Given the description of an element on the screen output the (x, y) to click on. 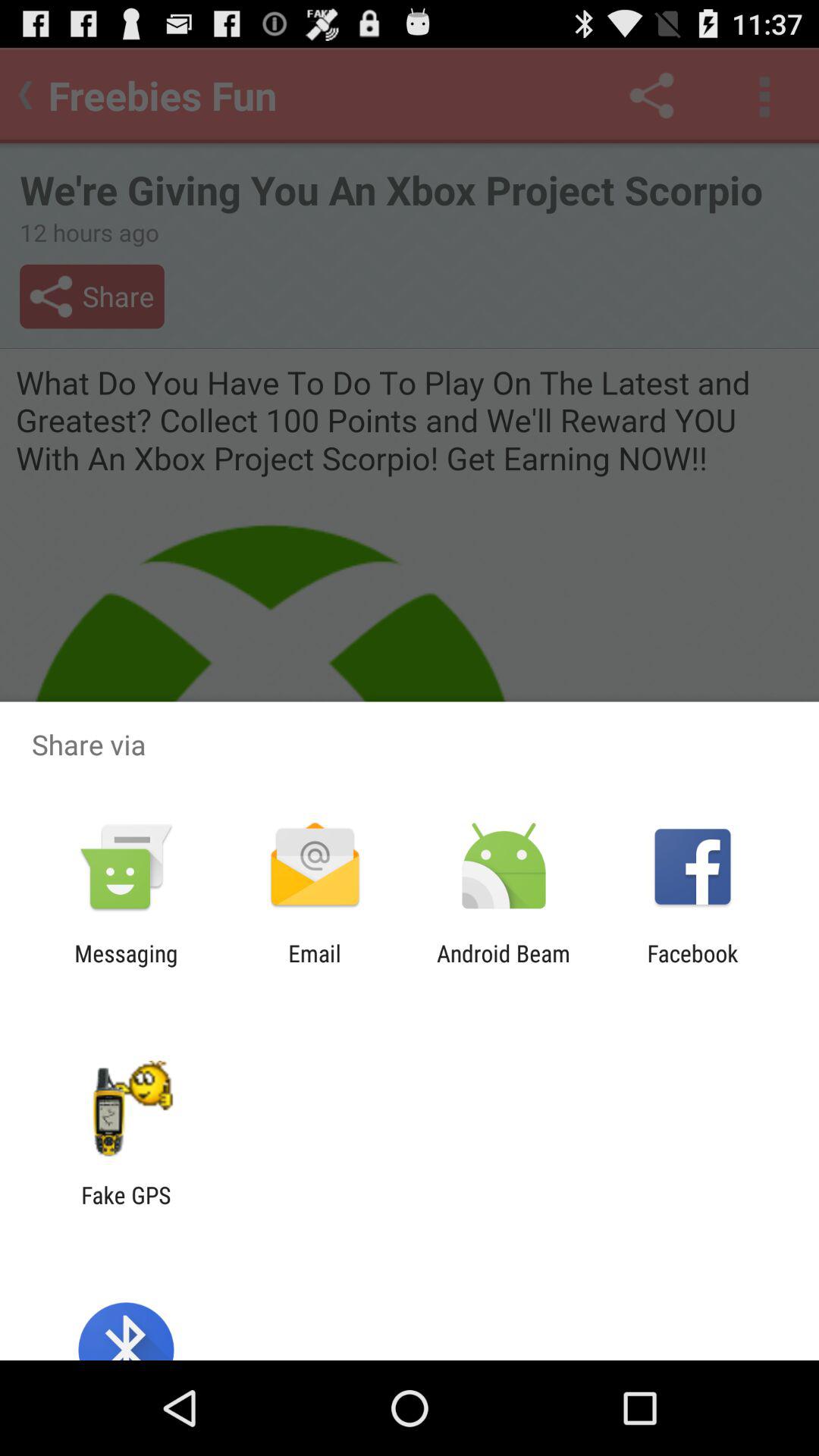
tap the app to the right of the email item (503, 966)
